Given the description of an element on the screen output the (x, y) to click on. 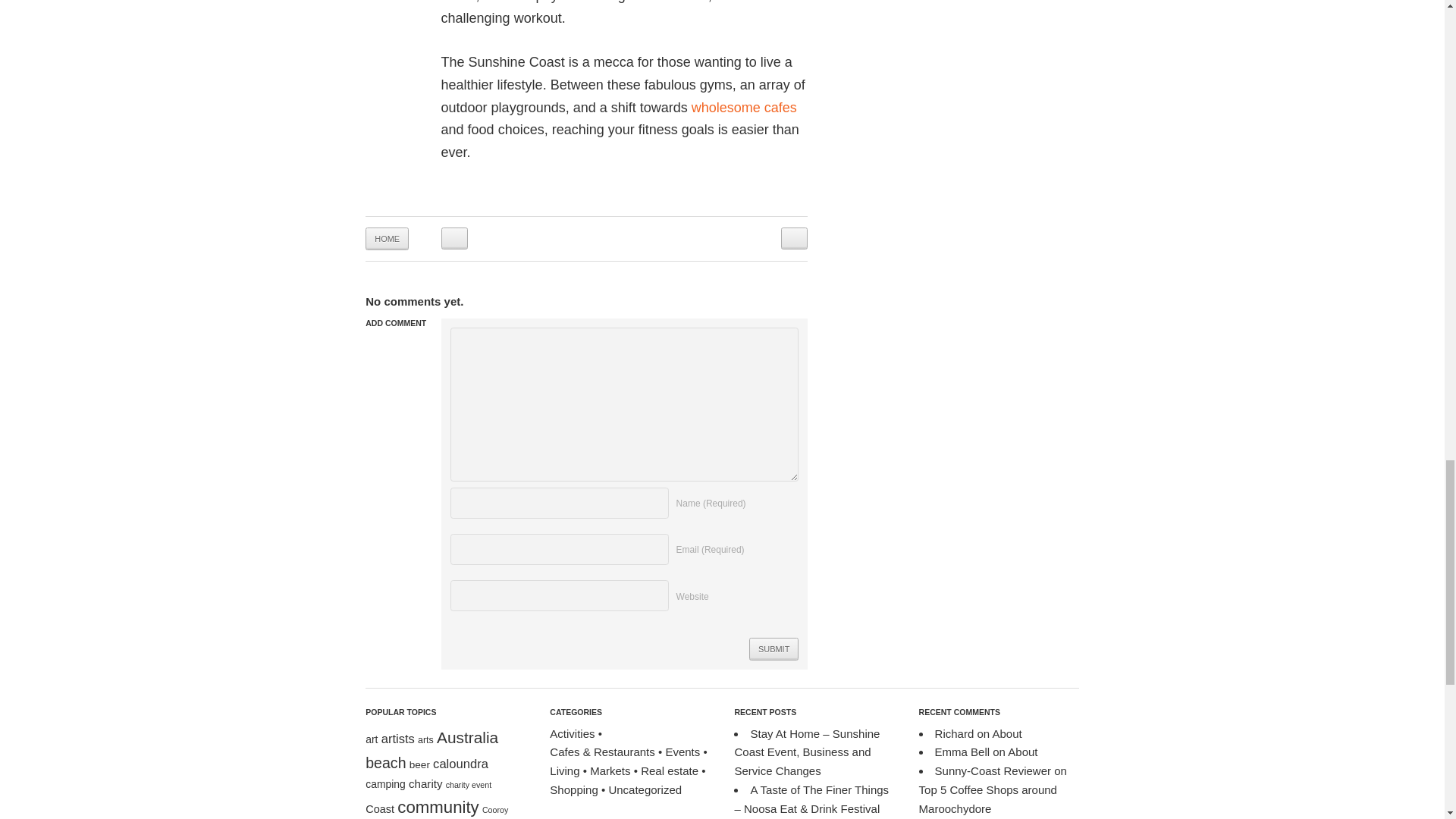
wholesome cafes (743, 107)
Submit (773, 649)
Submit (773, 649)
HOME (387, 238)
